Given the description of an element on the screen output the (x, y) to click on. 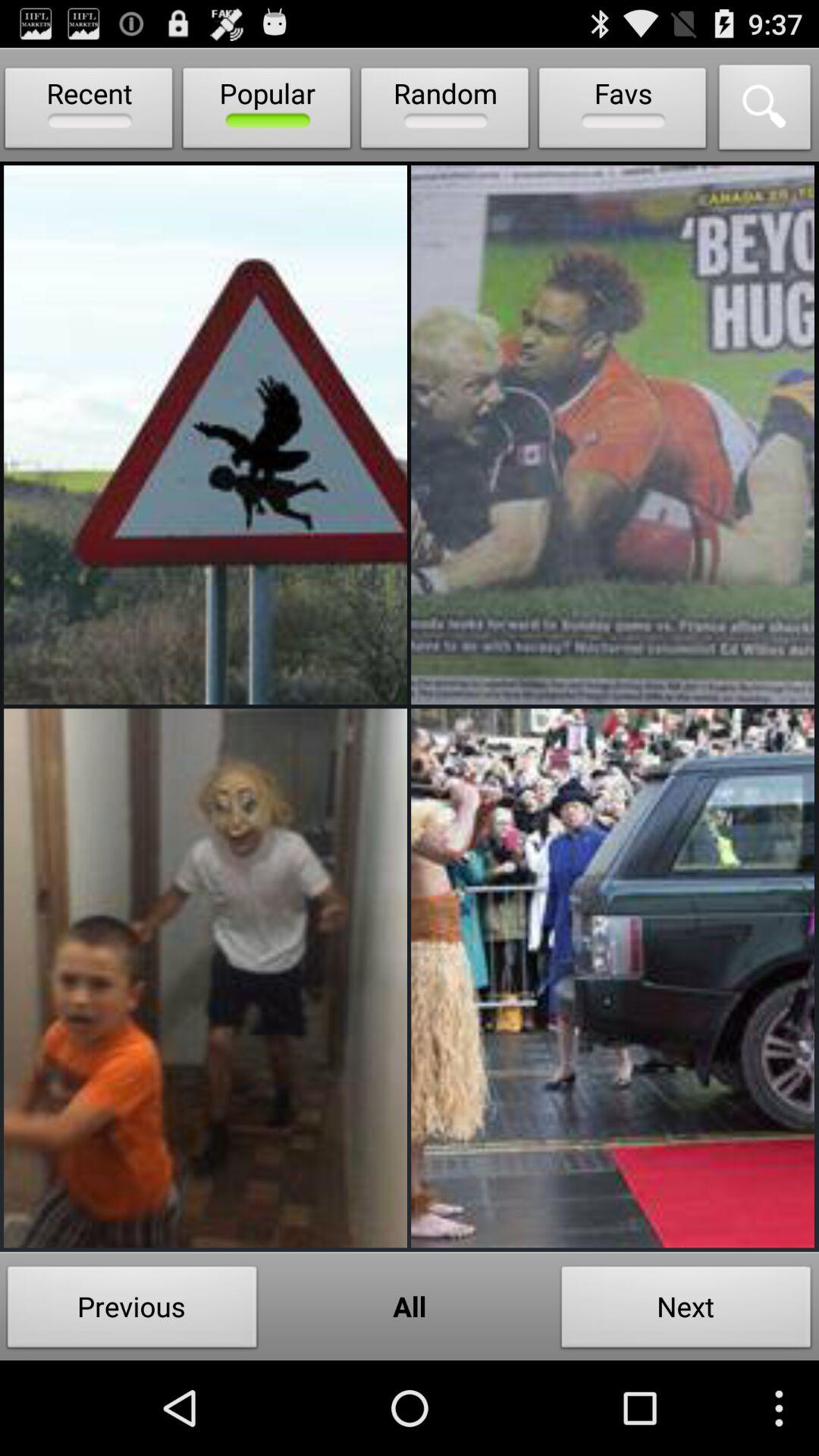
press the icon to the right of the recent (267, 111)
